Given the description of an element on the screen output the (x, y) to click on. 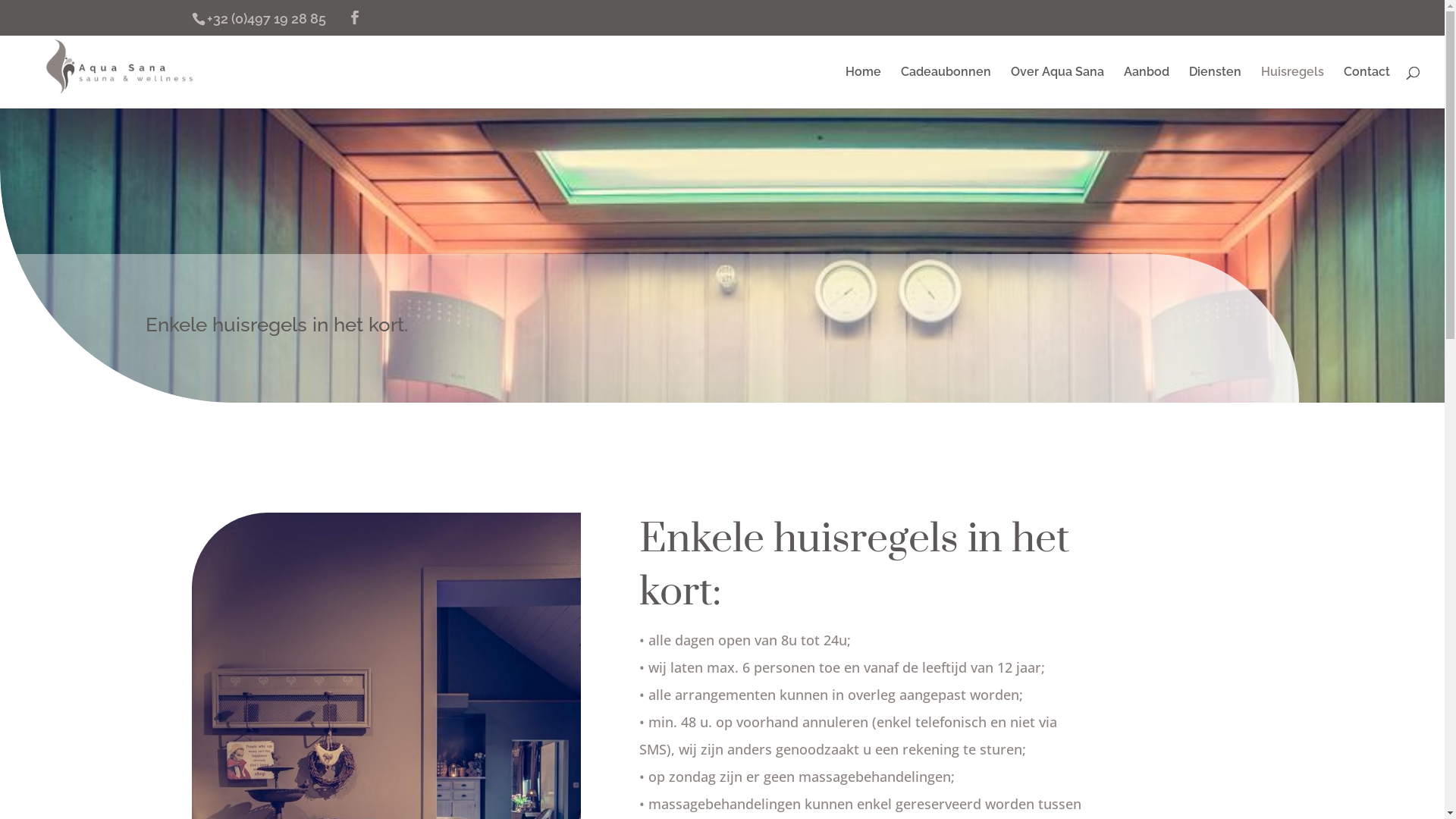
Diensten Element type: text (1215, 87)
Cadeaubonnen Element type: text (945, 87)
Home Element type: text (863, 87)
Contact Element type: text (1366, 87)
Over Aqua Sana Element type: text (1057, 87)
Aanbod Element type: text (1146, 87)
Huisregels Element type: text (1292, 87)
